Given the description of an element on the screen output the (x, y) to click on. 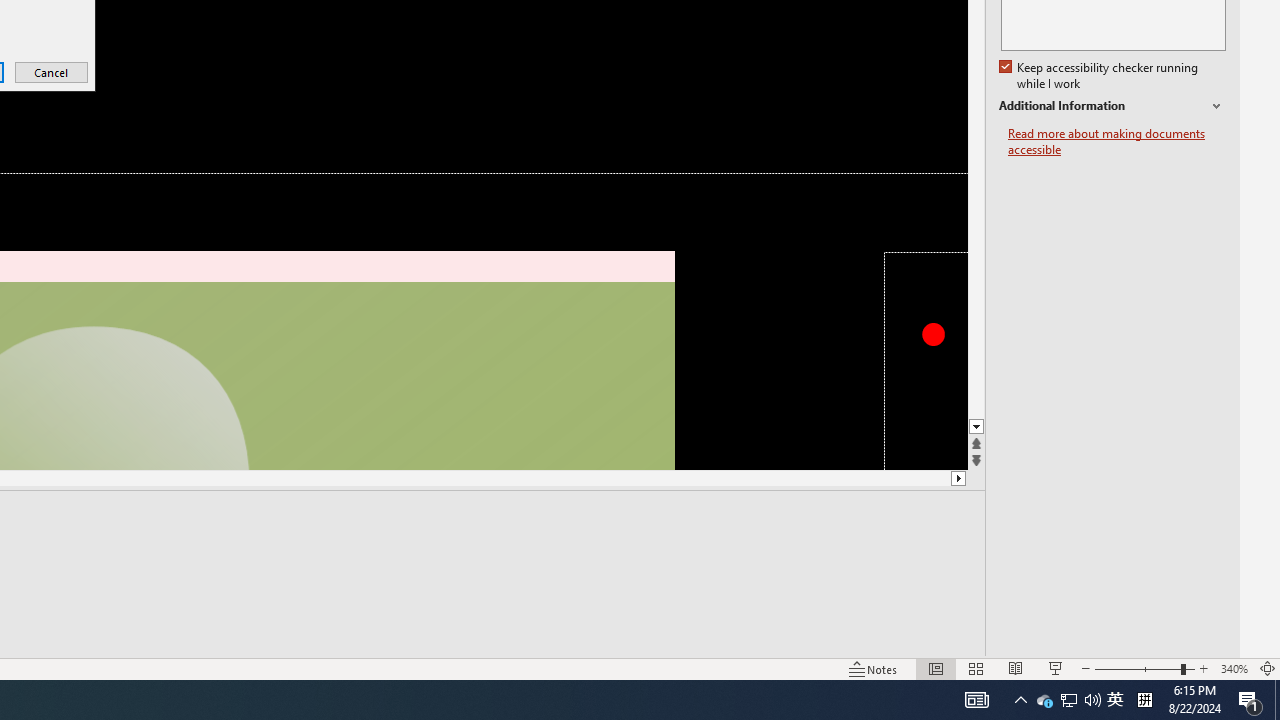
Action Center, 1 new notification (1044, 699)
Zoom 340% (1250, 699)
